Given the description of an element on the screen output the (x, y) to click on. 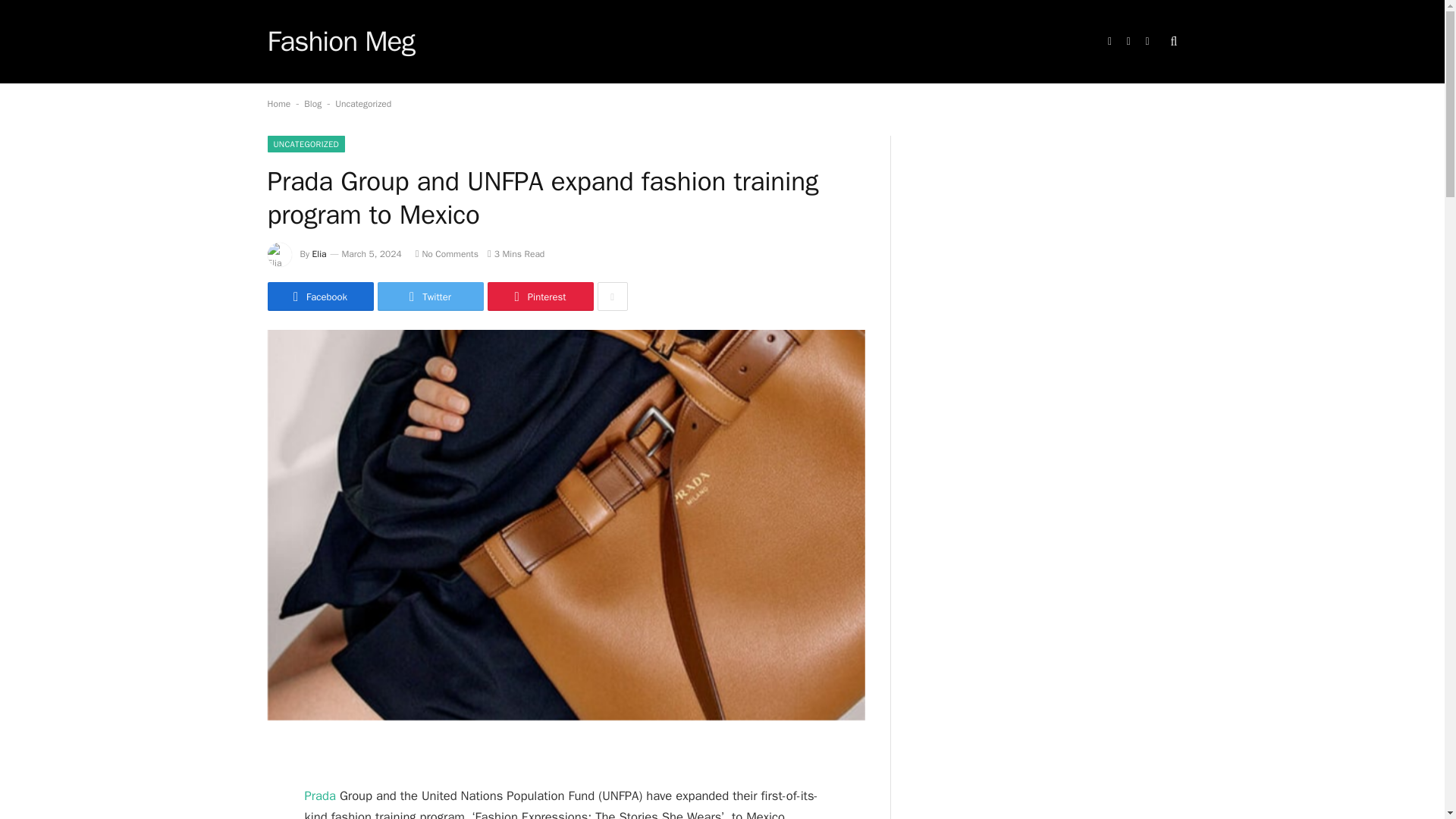
Posts by Elia (319, 254)
Prada (320, 795)
Fashion Meg (339, 41)
Fashion Meg (339, 41)
Pinterest (539, 296)
Share on Facebook (319, 296)
Uncategorized (362, 103)
No Comments (446, 254)
Twitter (430, 296)
Show More Social Sharing (611, 296)
